Given the description of an element on the screen output the (x, y) to click on. 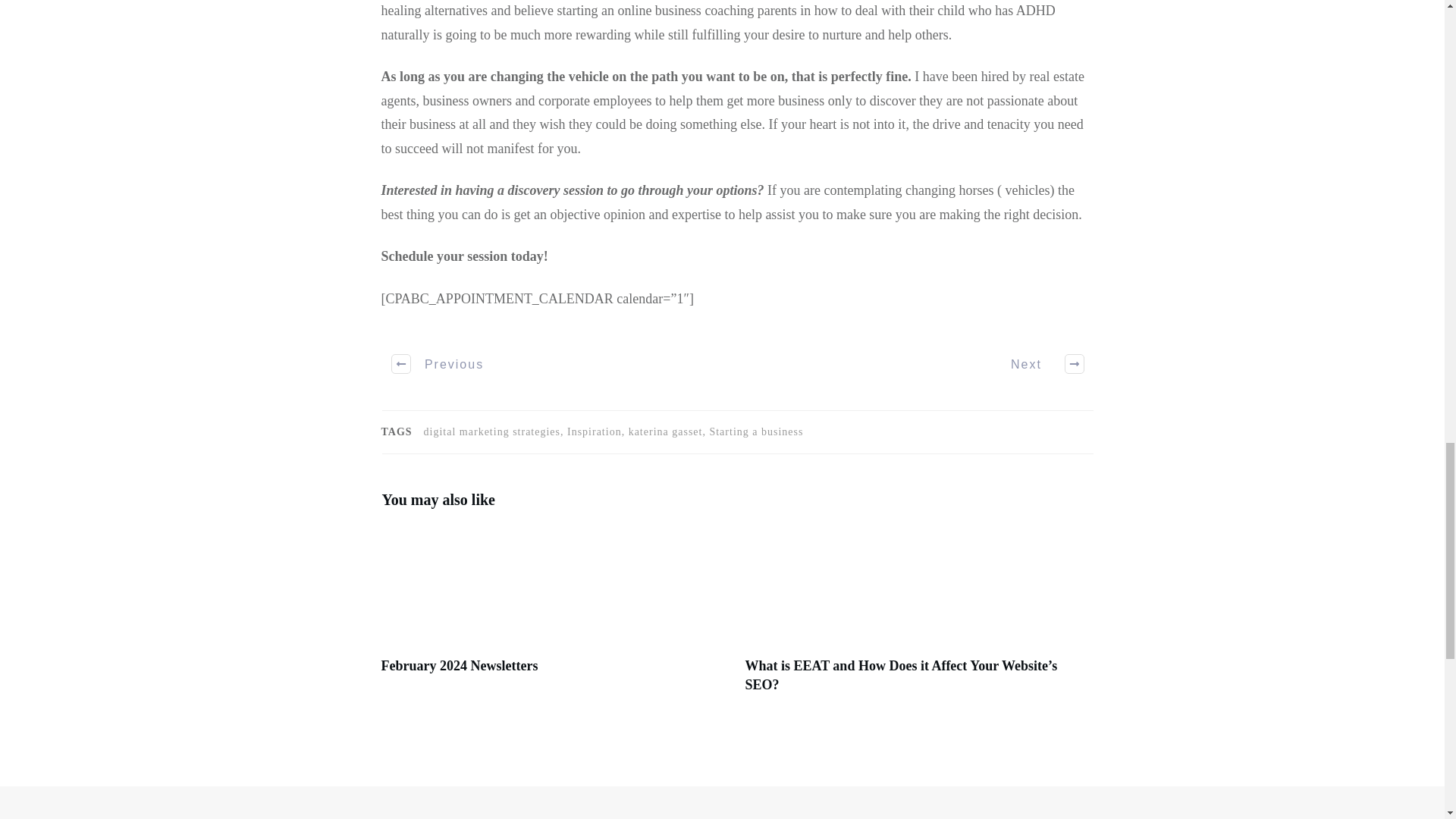
Next (1036, 363)
Previous (438, 363)
February 2024 Newsletters (458, 665)
February 2024 Newsletters (458, 665)
